Given the description of an element on the screen output the (x, y) to click on. 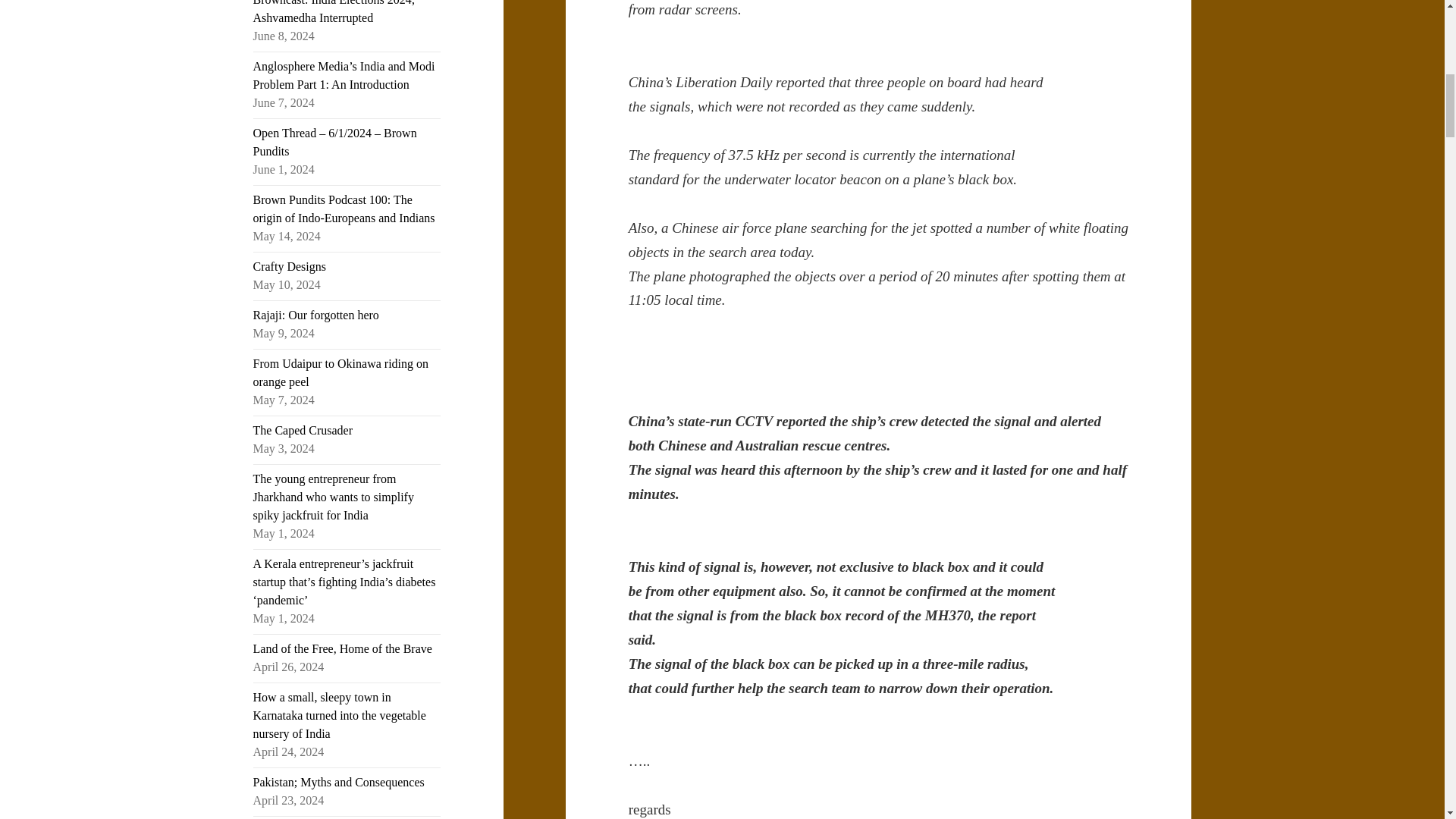
From Udaipur to Okinawa riding on orange peel (341, 372)
Land of the Free, Home of the Brave (342, 648)
Crafty Designs (289, 266)
The Caped Crusader (303, 430)
Browncast: India Elections 2024; Ashvamedha Interrupted (333, 12)
Pakistan; Myths and Consequences (339, 781)
Rajaji: Our forgotten hero (315, 314)
